Given the description of an element on the screen output the (x, y) to click on. 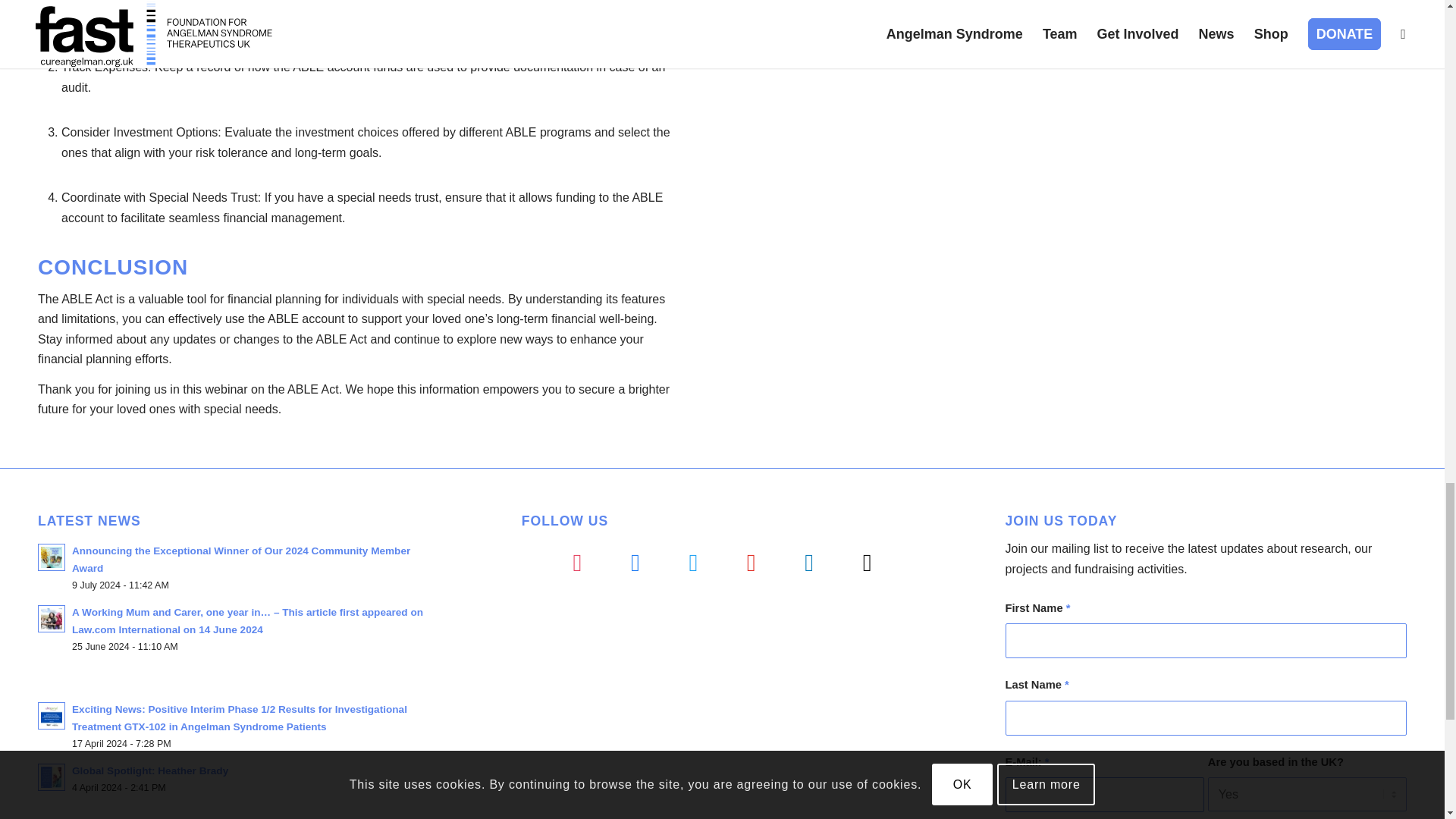
Read: Global Spotlight: Heather Brady (149, 770)
Read: Global Spotlight: Heather Brady (51, 777)
